Given the description of an element on the screen output the (x, y) to click on. 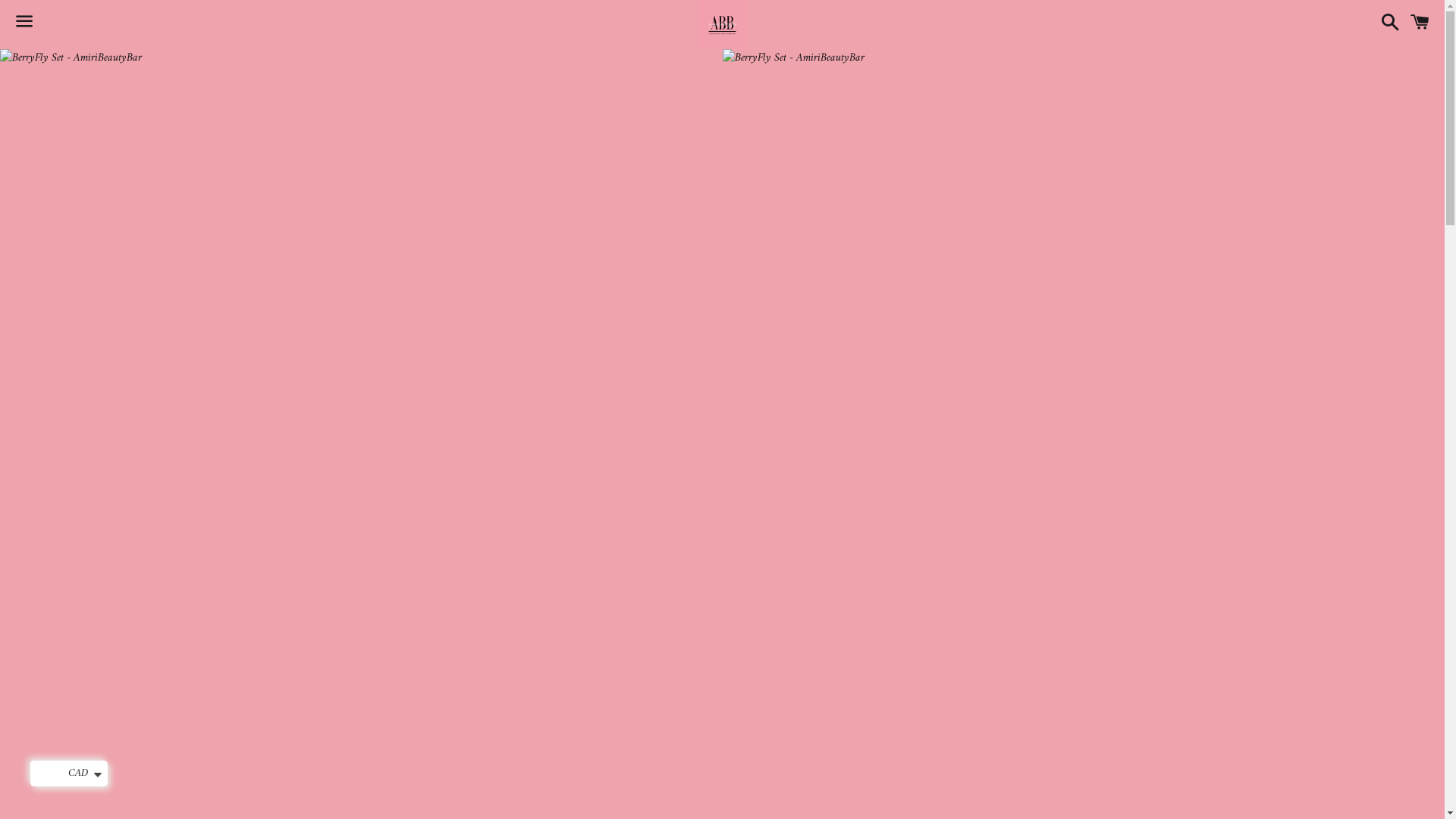
Search Element type: text (1386, 24)
Cart Element type: text (1419, 24)
Menu Element type: text (24, 24)
